Given the description of an element on the screen output the (x, y) to click on. 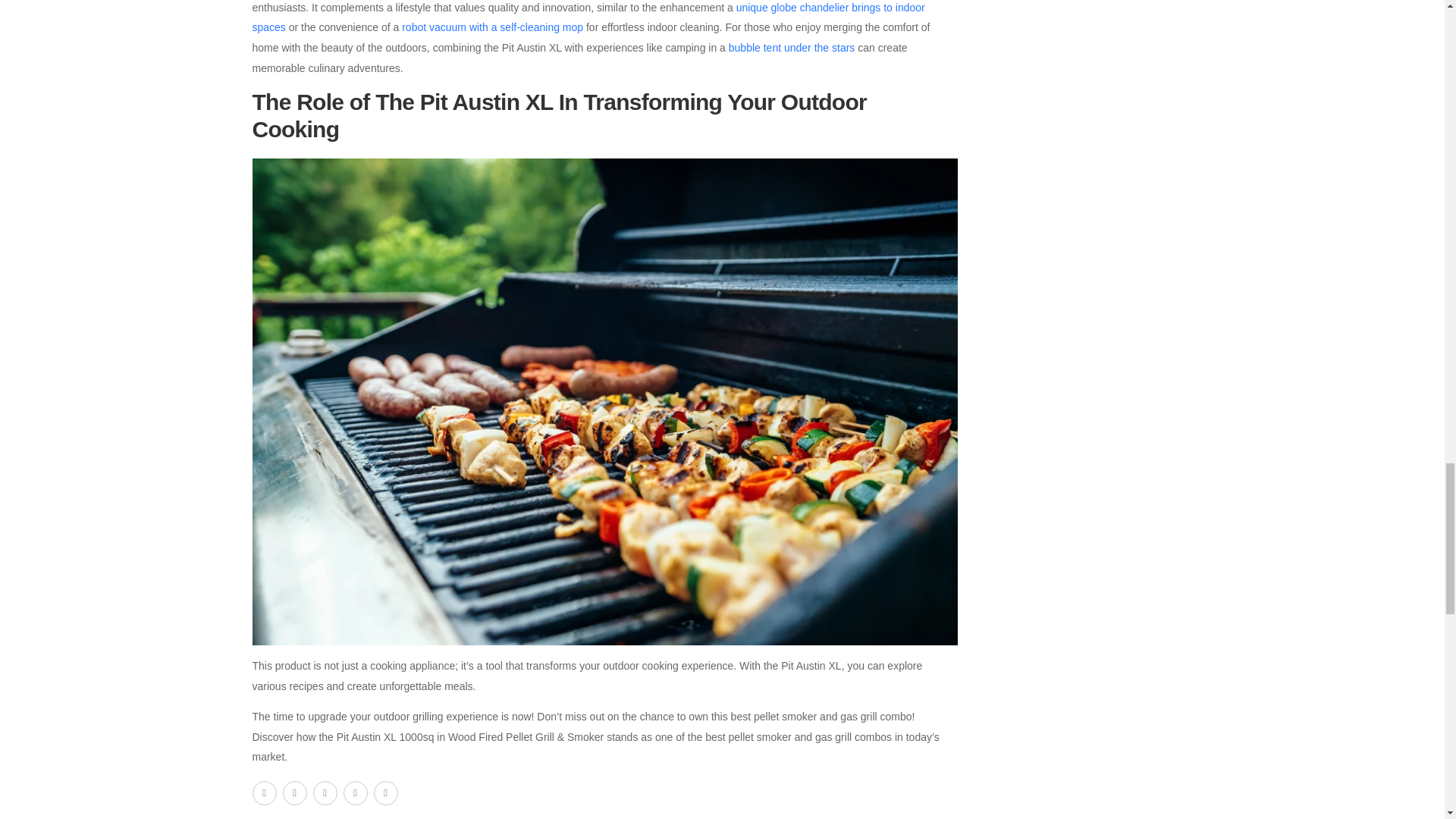
Linkedin (384, 793)
Twitter (293, 793)
Facebook (263, 793)
WhatsApp (354, 793)
Pinterest (324, 793)
